Given the description of an element on the screen output the (x, y) to click on. 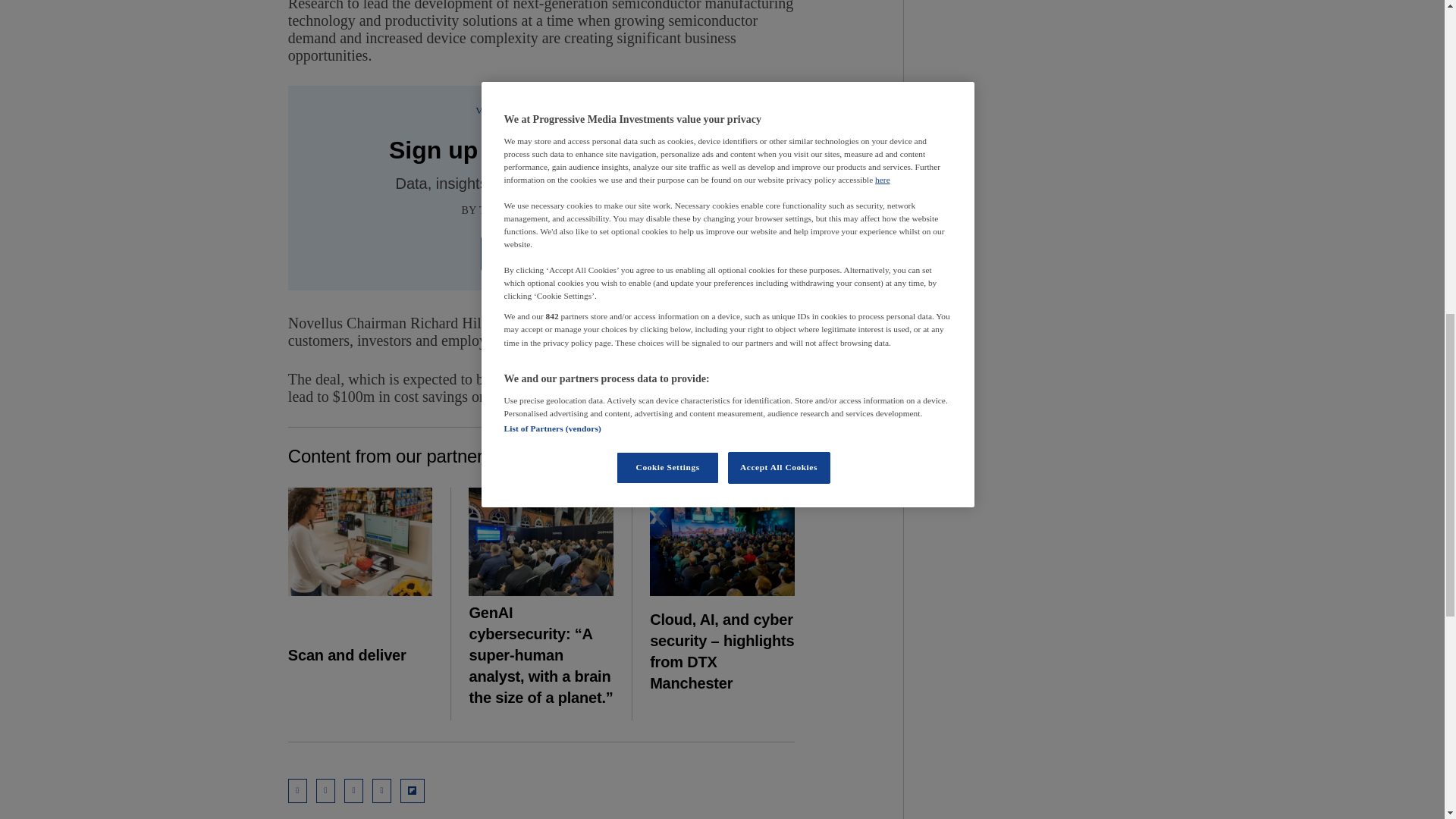
Scan and deliver (360, 541)
Share on Flipboard (412, 790)
